Given the description of an element on the screen output the (x, y) to click on. 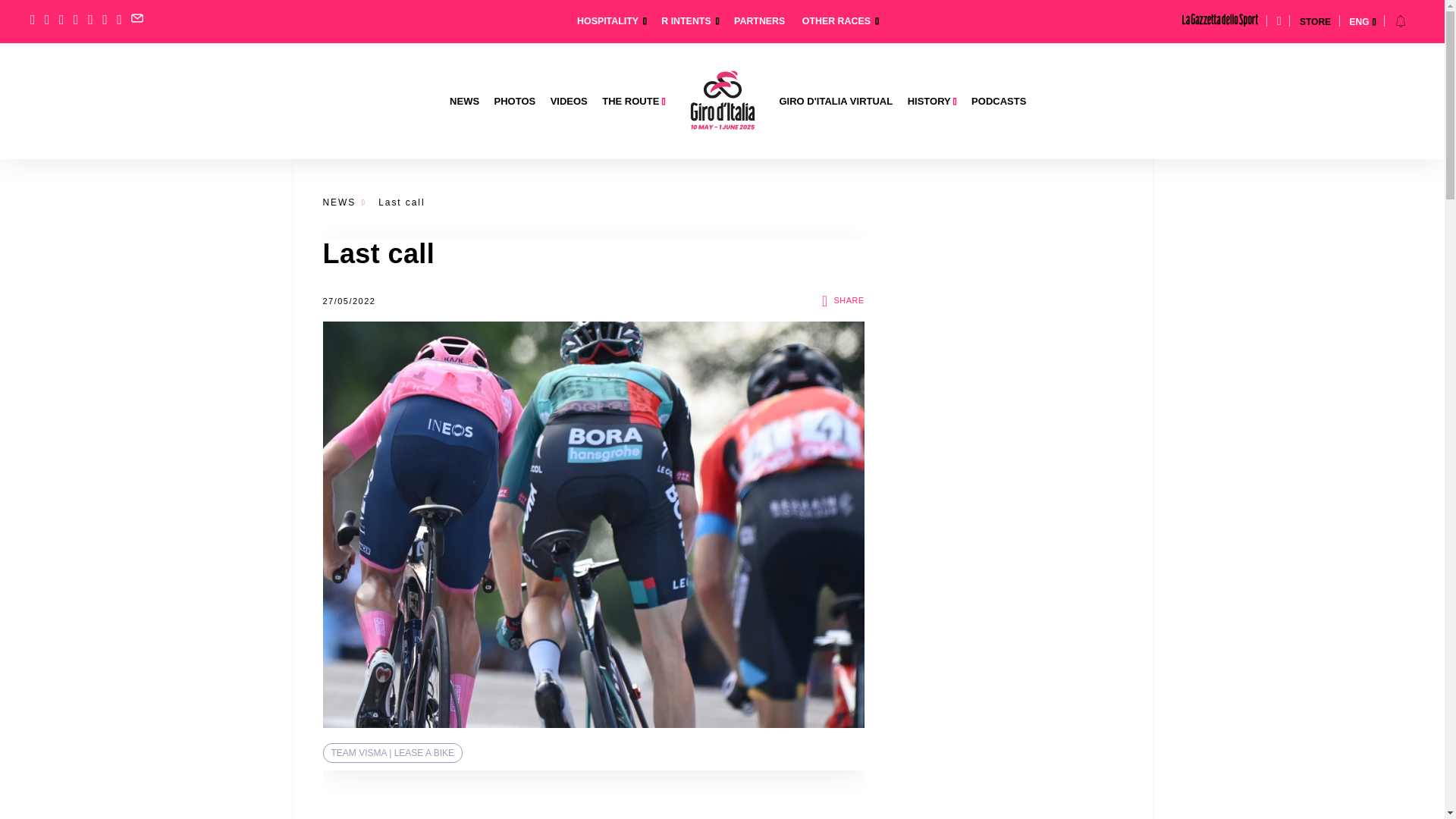
VIDEOS (563, 101)
R INTENTS (682, 16)
STORE (1315, 21)
NEWS (464, 101)
OTHER RACES (833, 16)
HOSPITALITY (604, 16)
ENG (1359, 21)
PHOTOS (509, 101)
PARTNERS (754, 16)
